Given the description of an element on the screen output the (x, y) to click on. 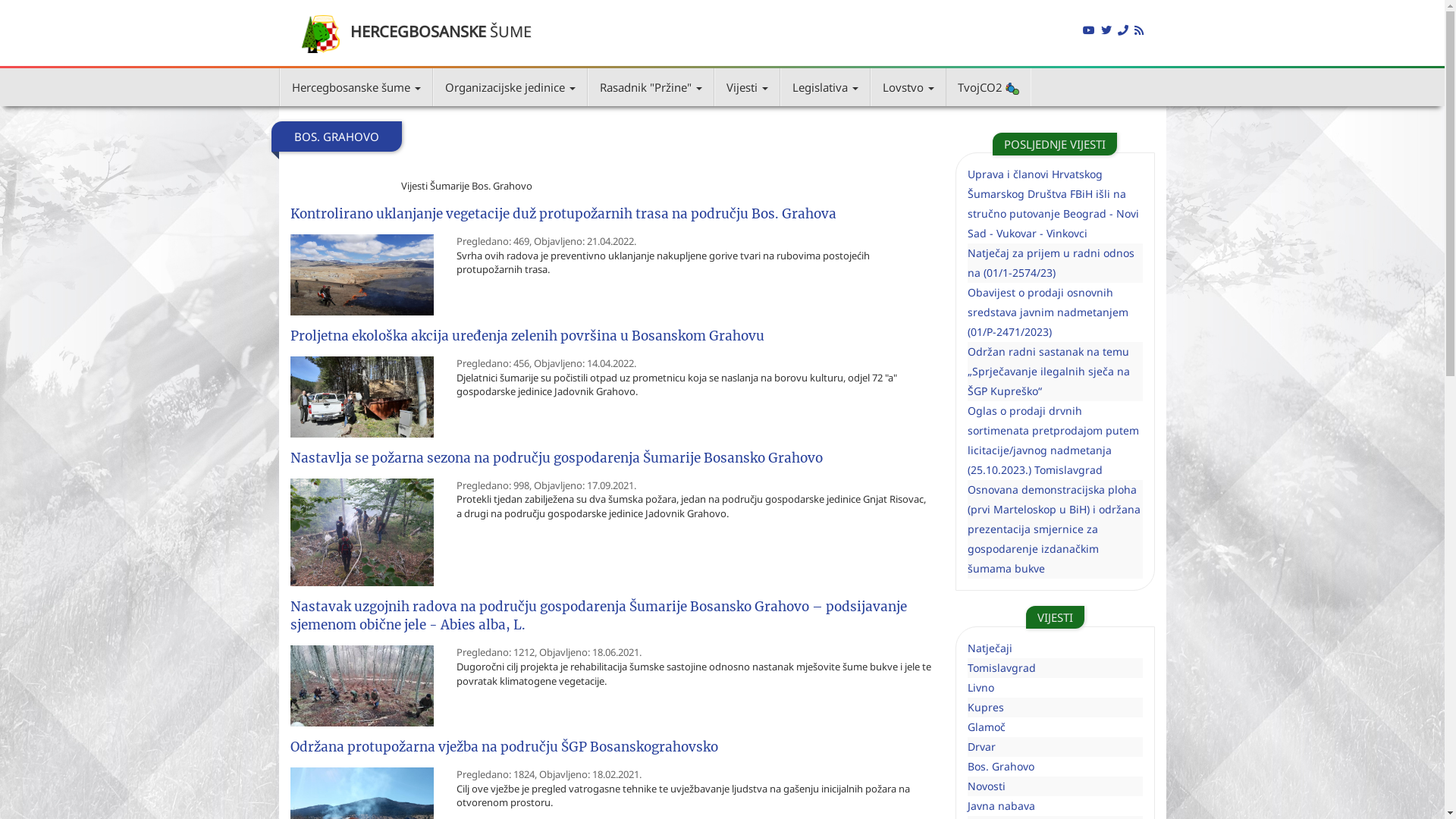
Novosti Element type: text (986, 785)
Bos. Grahovo Element type: text (1000, 766)
Lovstvo Element type: text (907, 87)
Vijesti Element type: text (746, 87)
Tomislavgrad Element type: text (1001, 667)
Organizacijske jedinice Element type: text (509, 87)
Kupres Element type: text (985, 706)
TvojCO2  Element type: text (988, 87)
Drvar Element type: text (981, 746)
Javna nabava Element type: text (1001, 805)
Legislativa Element type: text (825, 87)
Livno Element type: text (980, 687)
